Given the description of an element on the screen output the (x, y) to click on. 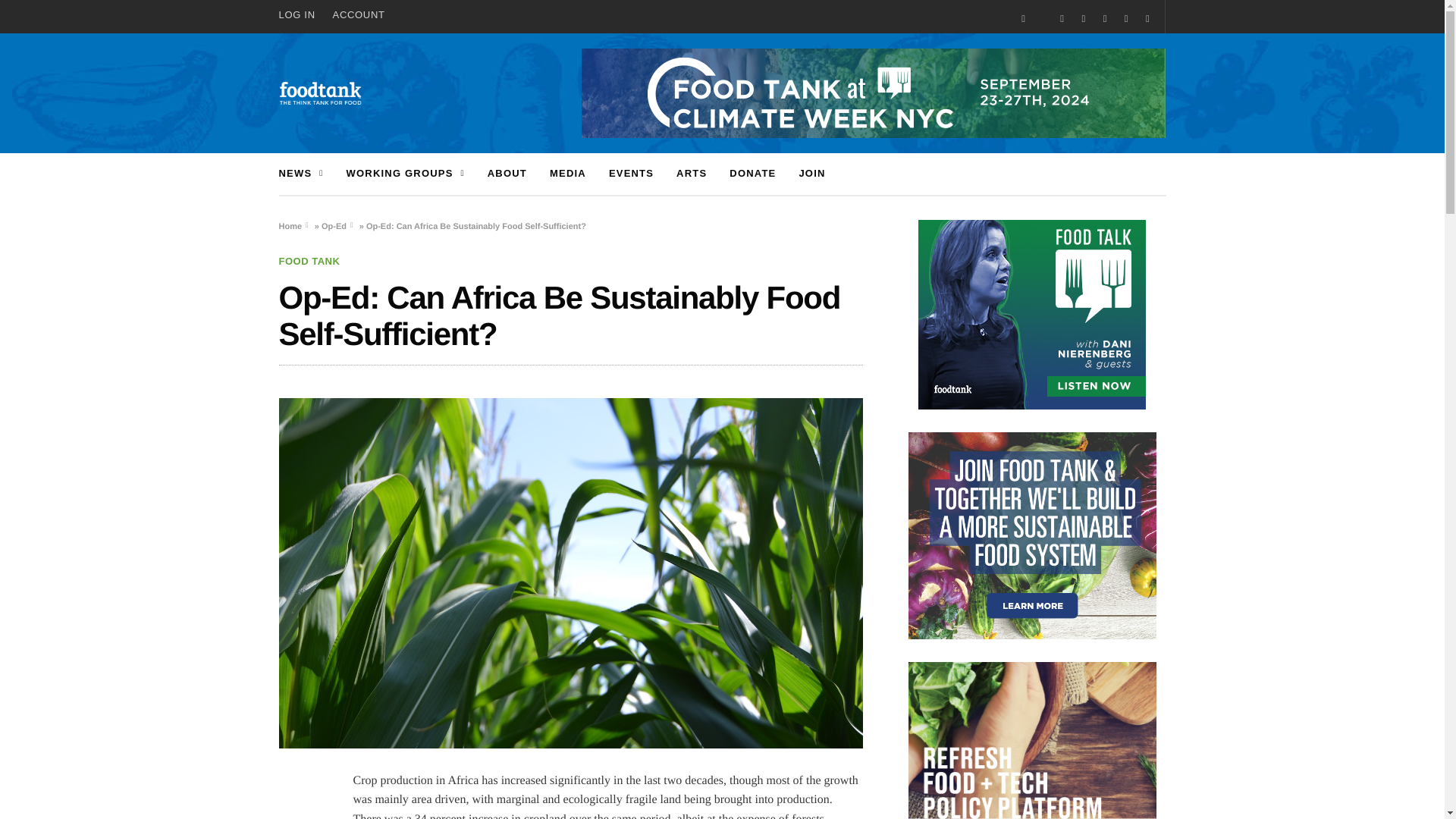
LOG IN (301, 15)
NEWS (301, 173)
ACCOUNT (358, 15)
